Given the description of an element on the screen output the (x, y) to click on. 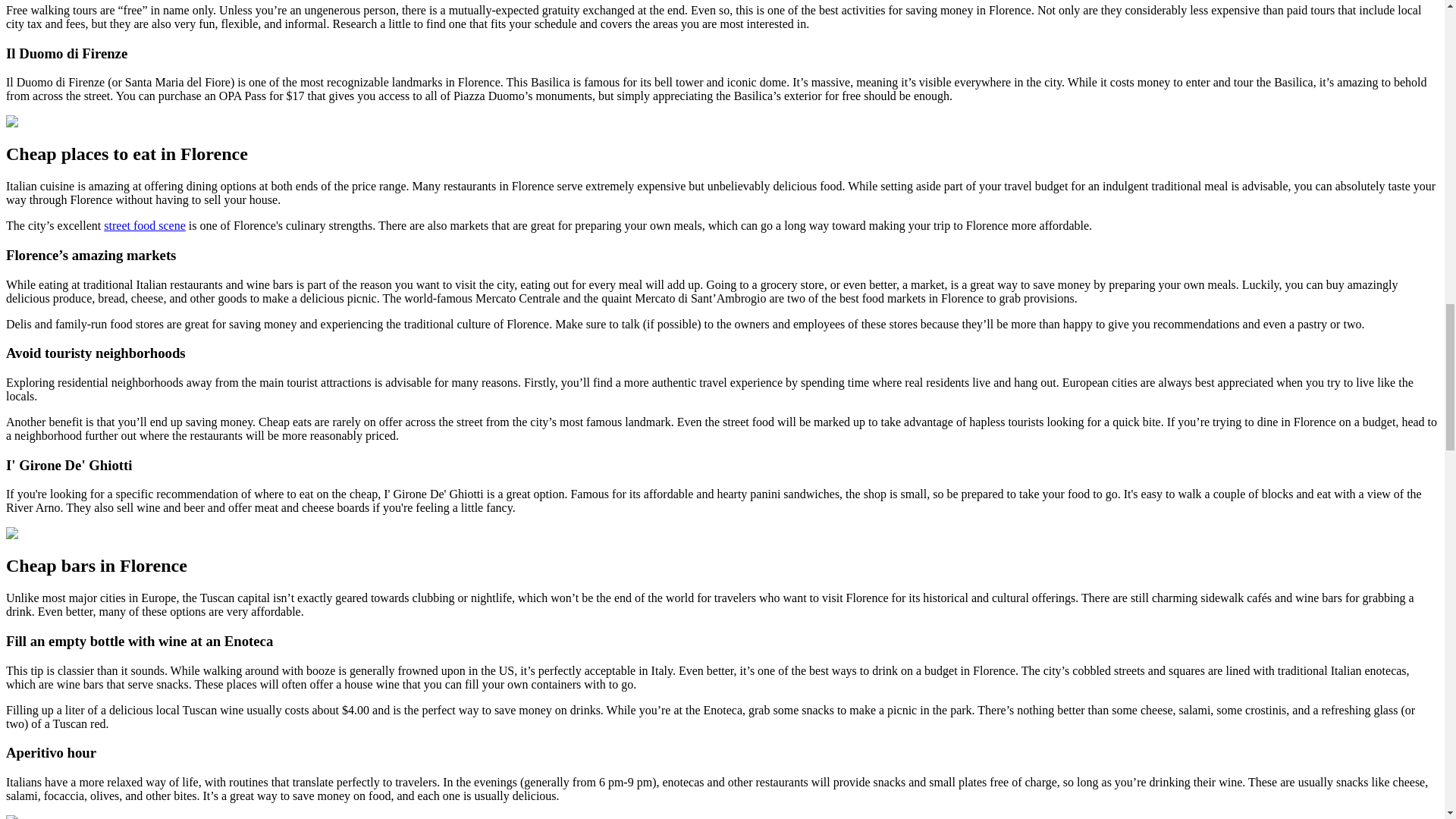
street food scene (144, 225)
